Given the description of an element on the screen output the (x, y) to click on. 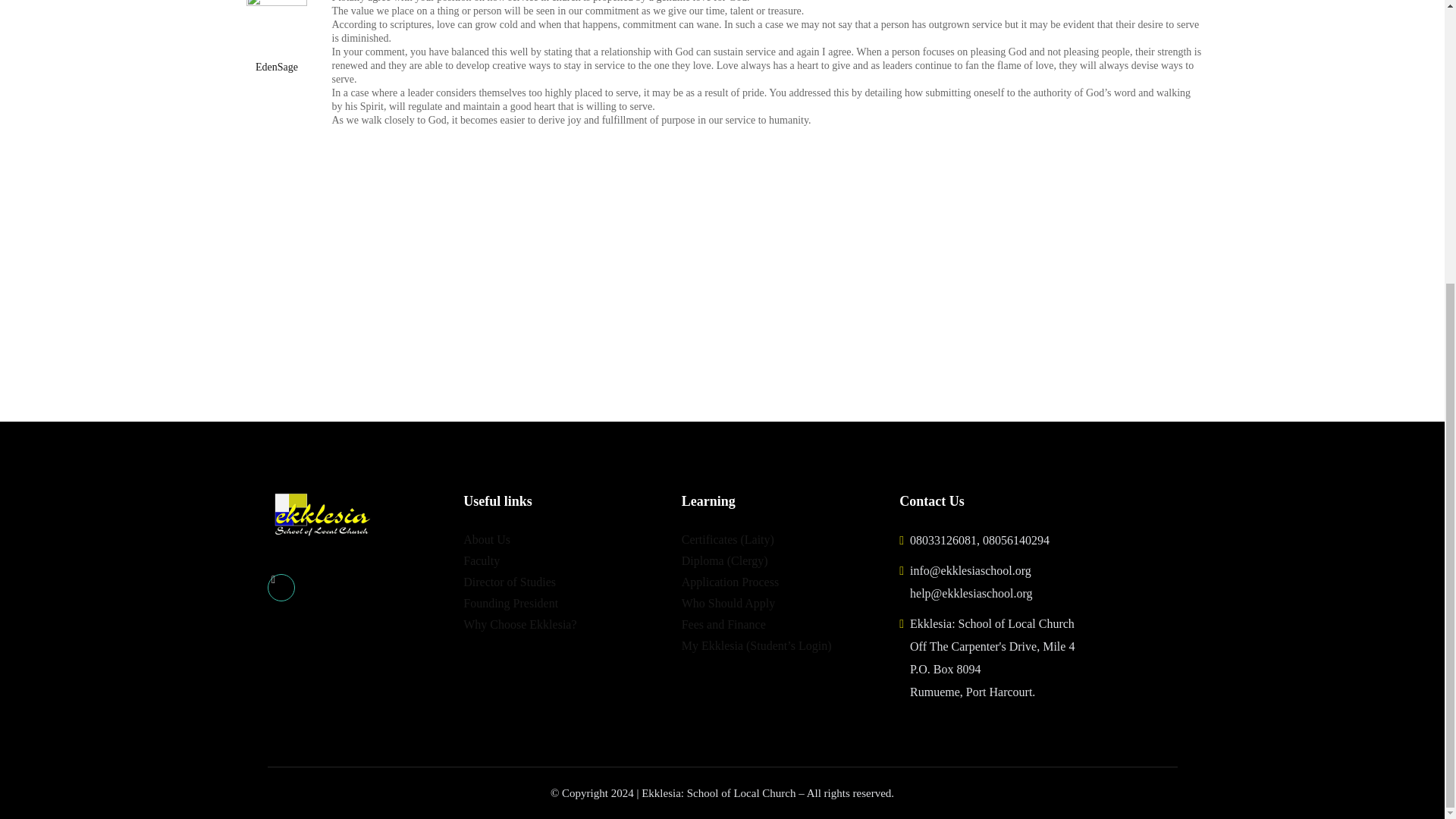
View EdenSage's profile (276, 37)
